Given the description of an element on the screen output the (x, y) to click on. 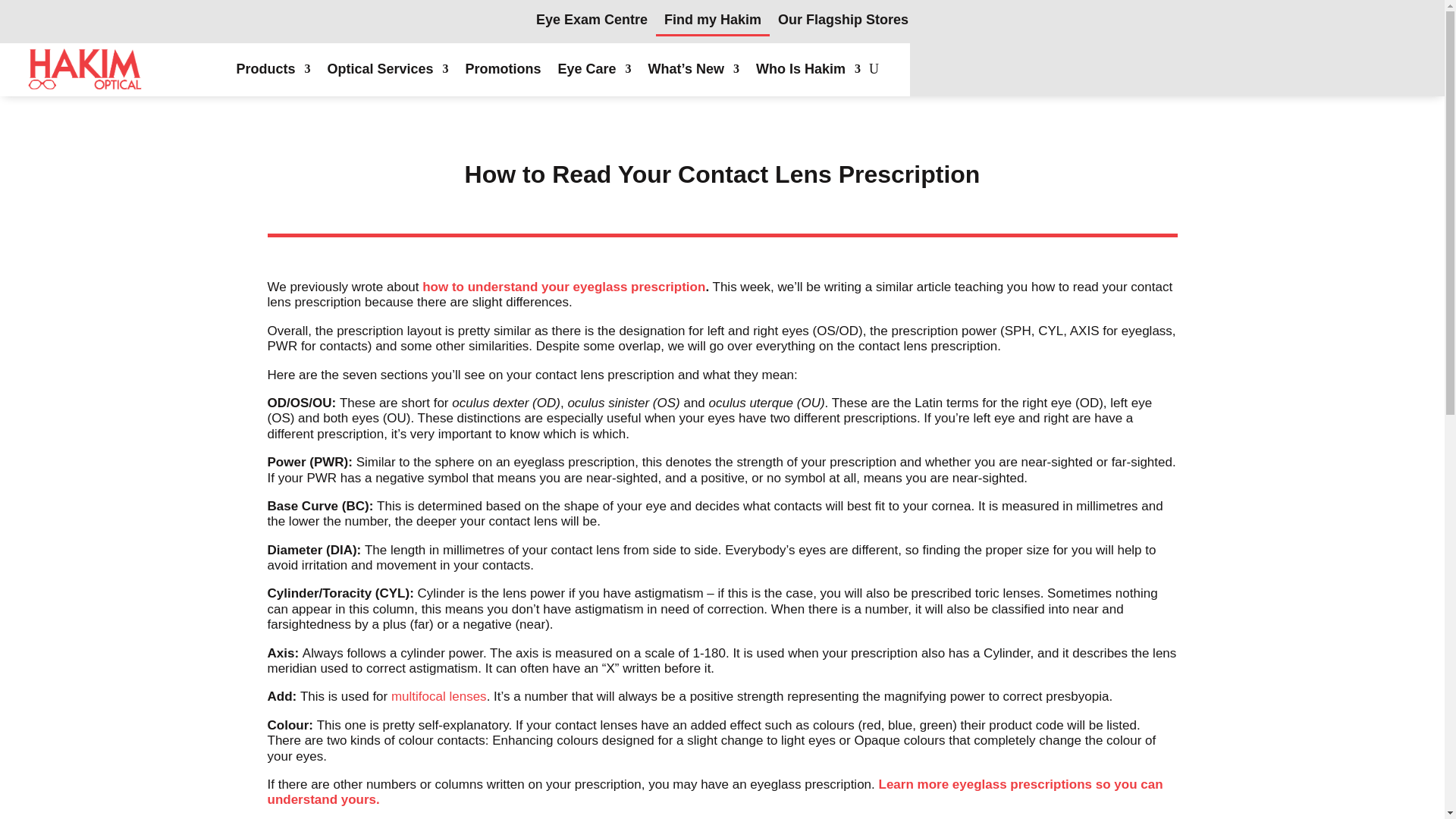
Optical Services (387, 69)
Our Flagship Stores (842, 24)
Eye Exam Centre (591, 24)
Promotions (503, 69)
Who Is Hakim (807, 69)
Products (272, 69)
Find my Hakim (712, 23)
Eye Care (594, 69)
